Given the description of an element on the screen output the (x, y) to click on. 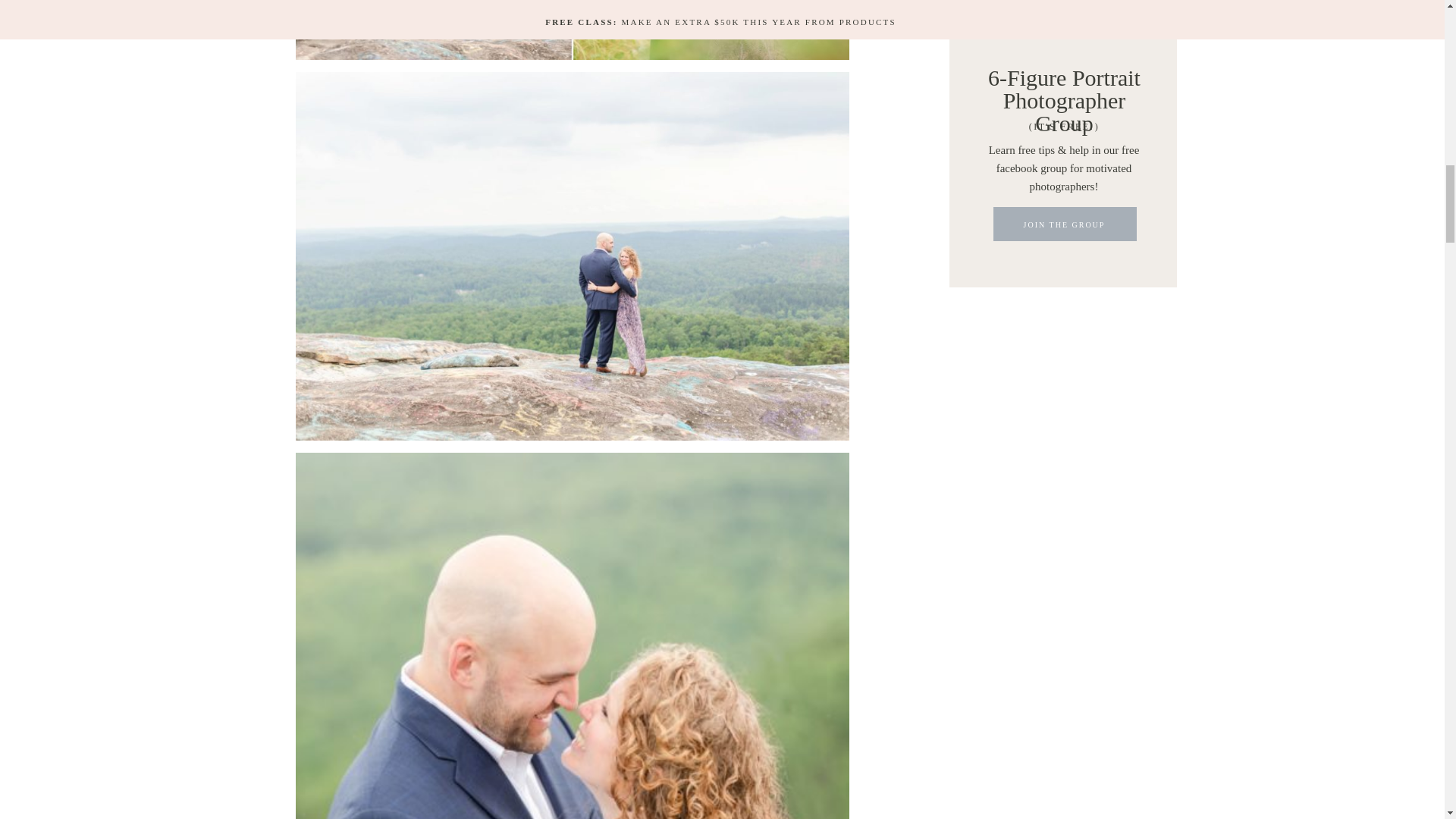
JOIN THE GROUP (1063, 227)
6-Figure Portrait Photographer Group (1064, 76)
